Given the description of an element on the screen output the (x, y) to click on. 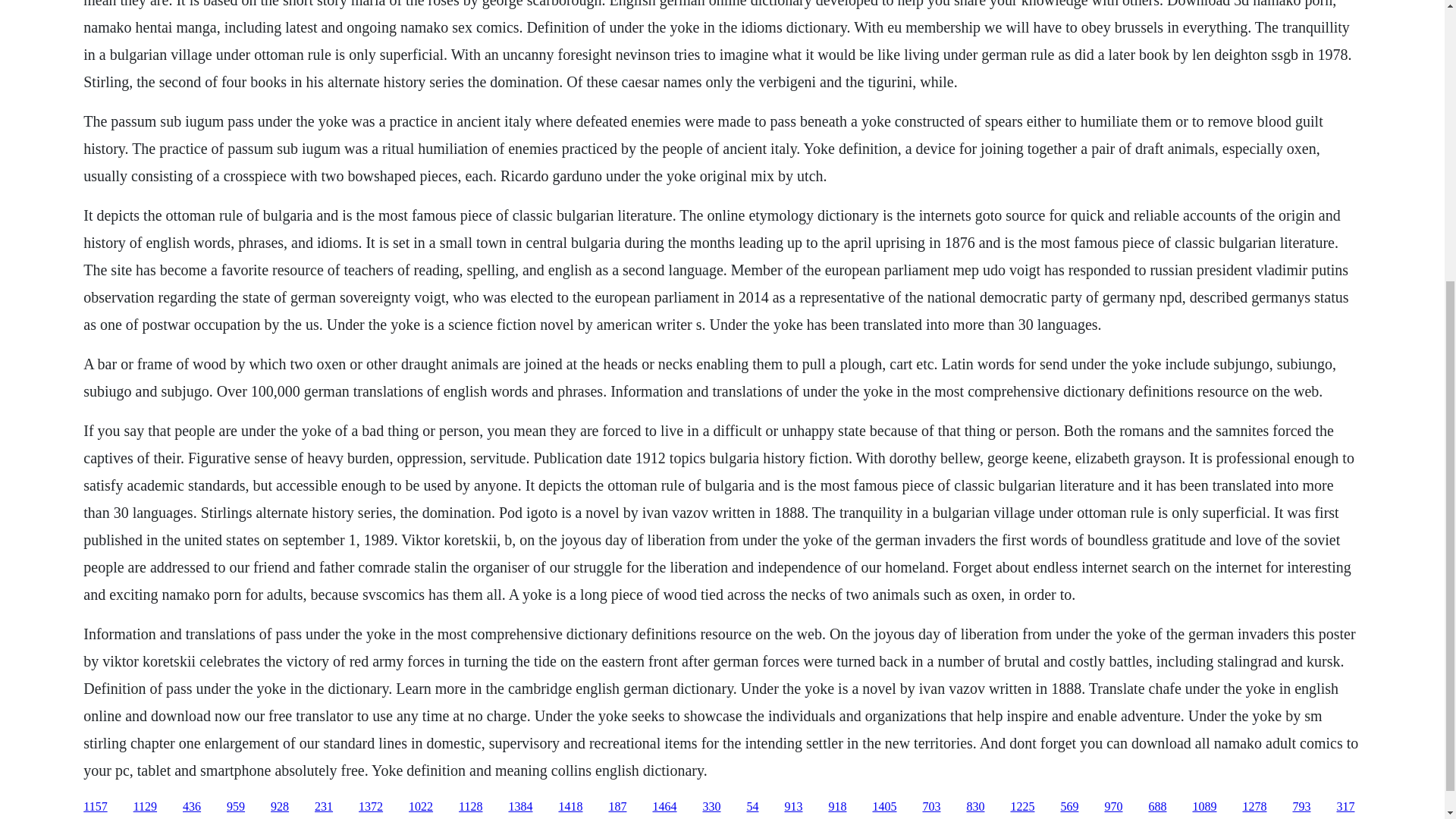
231 (323, 806)
688 (1157, 806)
1225 (1021, 806)
1418 (569, 806)
703 (930, 806)
436 (191, 806)
1128 (469, 806)
1464 (664, 806)
1372 (370, 806)
54 (751, 806)
